Given the description of an element on the screen output the (x, y) to click on. 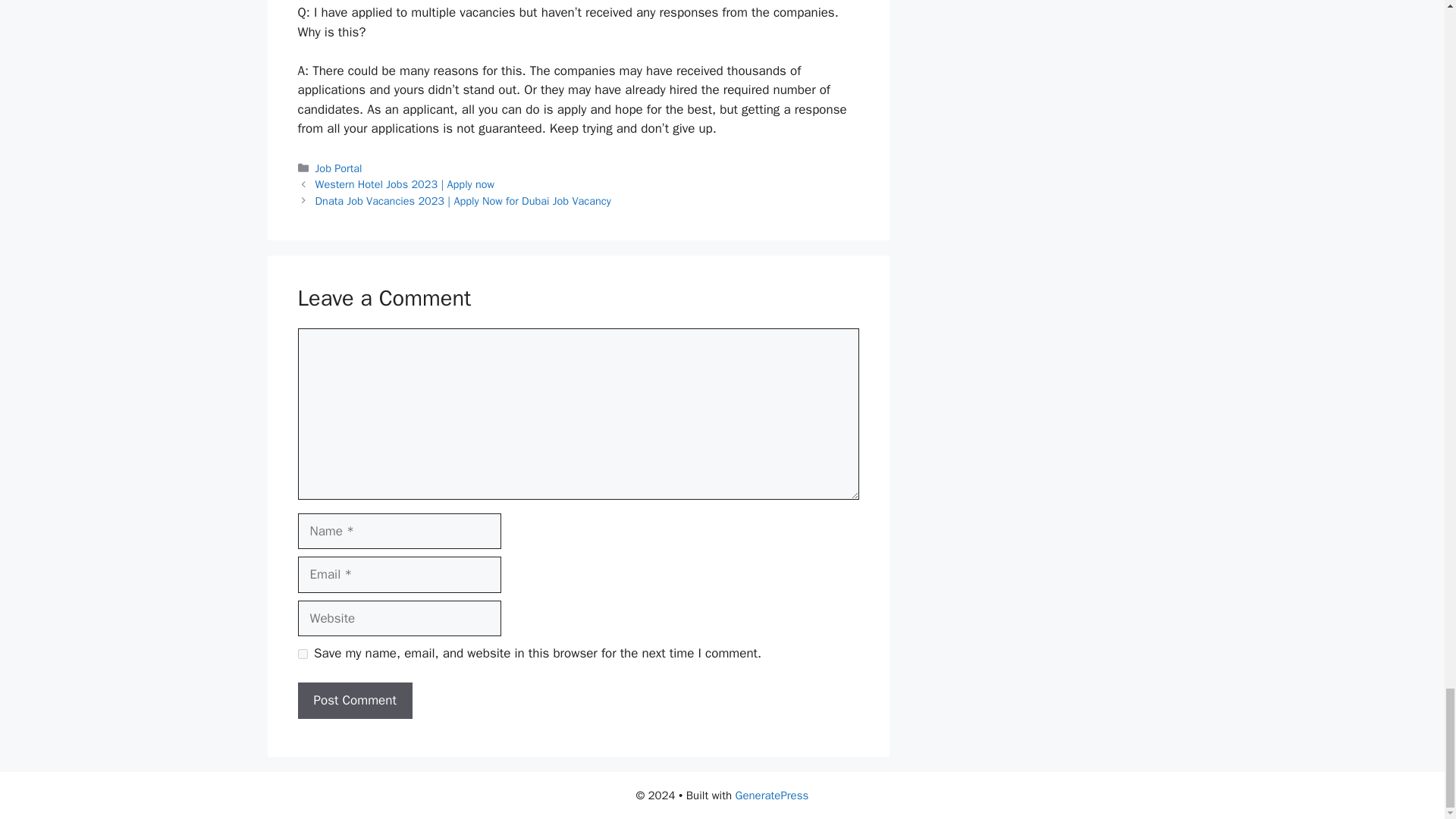
Post Comment (354, 700)
GeneratePress (772, 795)
yes (302, 654)
Post Comment (354, 700)
Job Portal (338, 168)
